Given the description of an element on the screen output the (x, y) to click on. 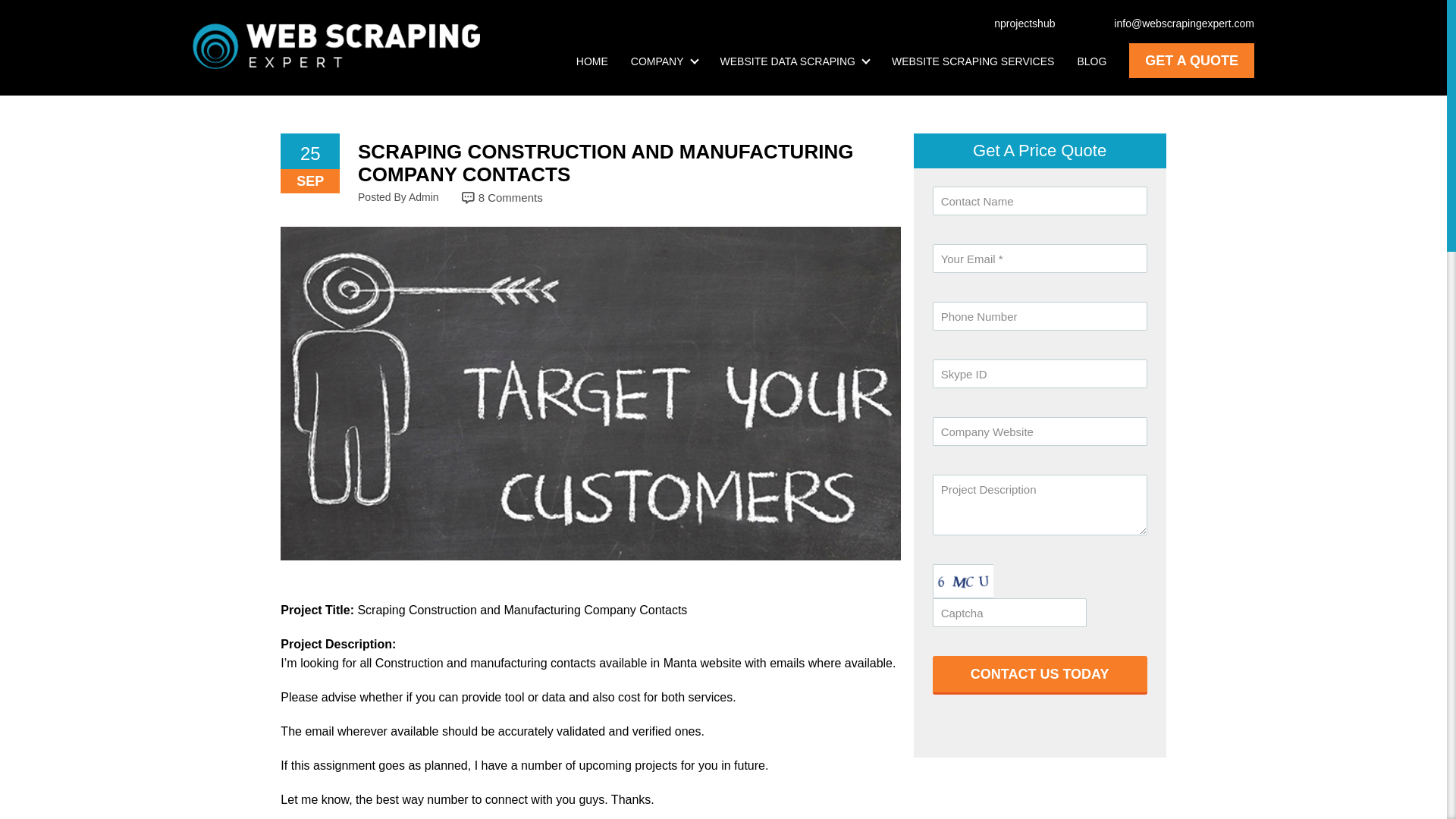
HOME (592, 61)
Contact Us Today (1040, 675)
nprojectshub (1016, 23)
Web Scraping Expert (336, 45)
